Given the description of an element on the screen output the (x, y) to click on. 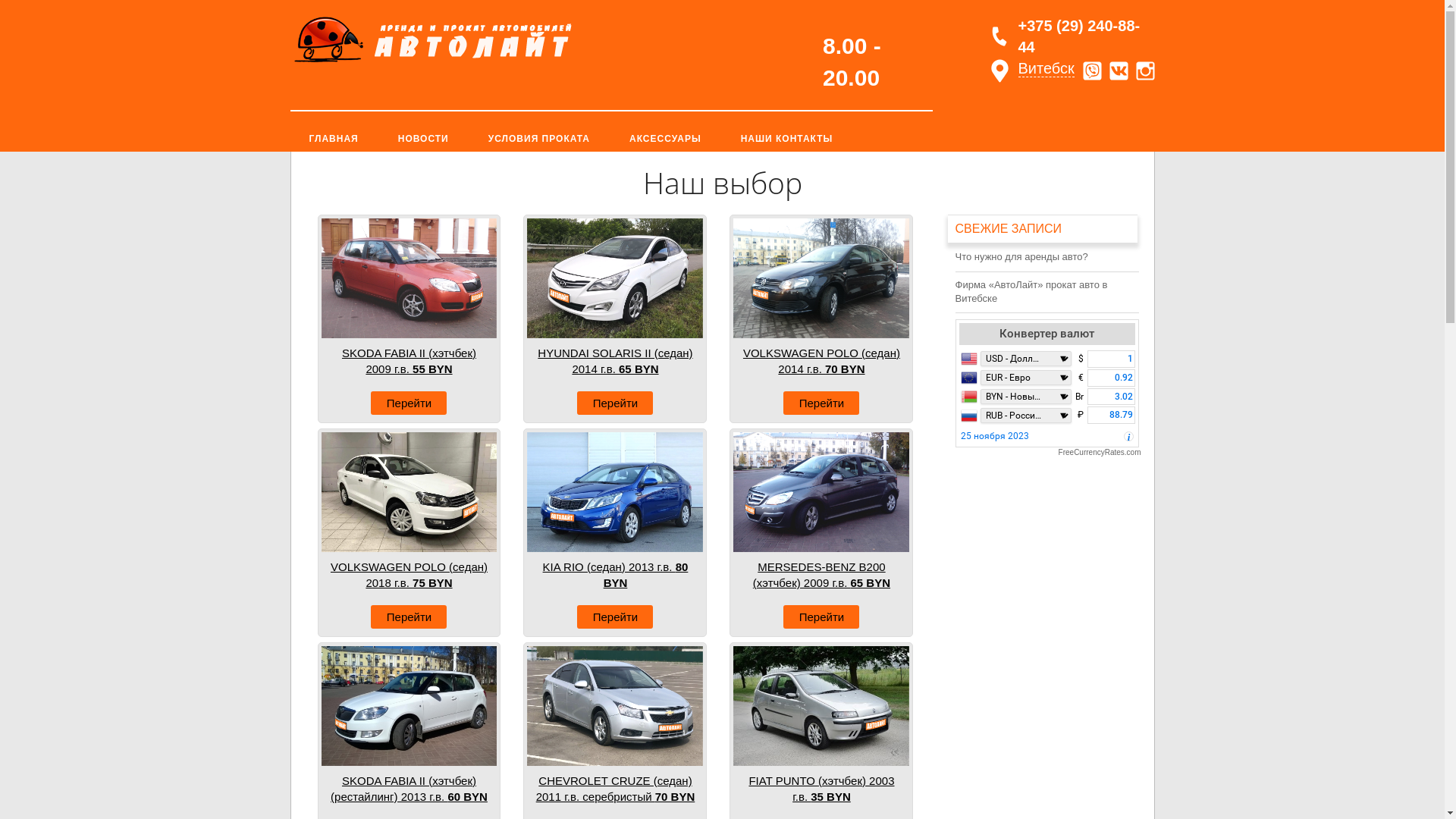
+375 (29) 240-88-44 Element type: text (1082, 36)
i Element type: text (1128, 437)
FreeCurrencyRates.com Element type: text (1048, 452)
